Given the description of an element on the screen output the (x, y) to click on. 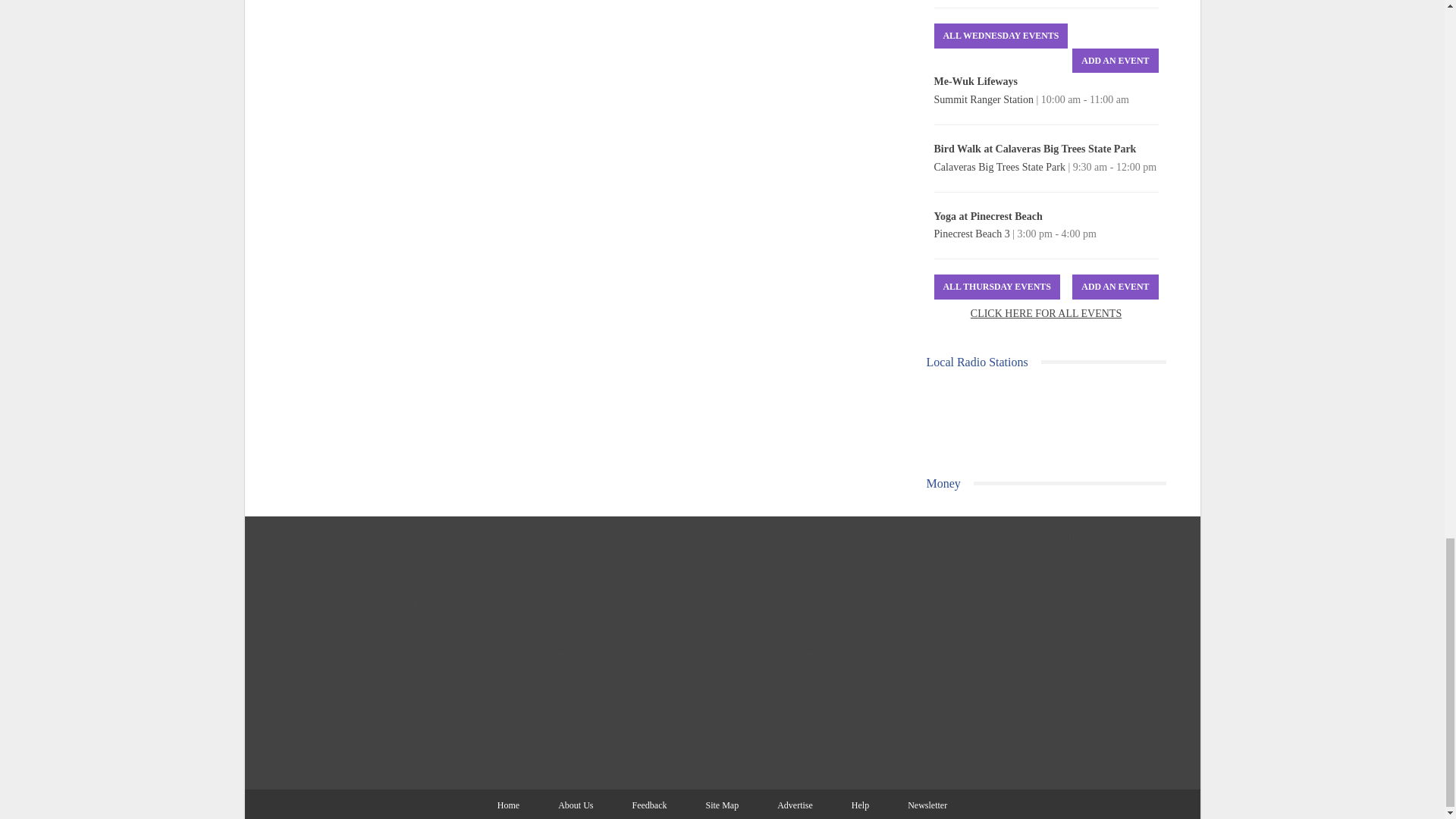
All Thursday Events (996, 286)
Add An Event (1114, 60)
Add An Event (1114, 286)
All Wednesday Events (1001, 35)
